Given the description of an element on the screen output the (x, y) to click on. 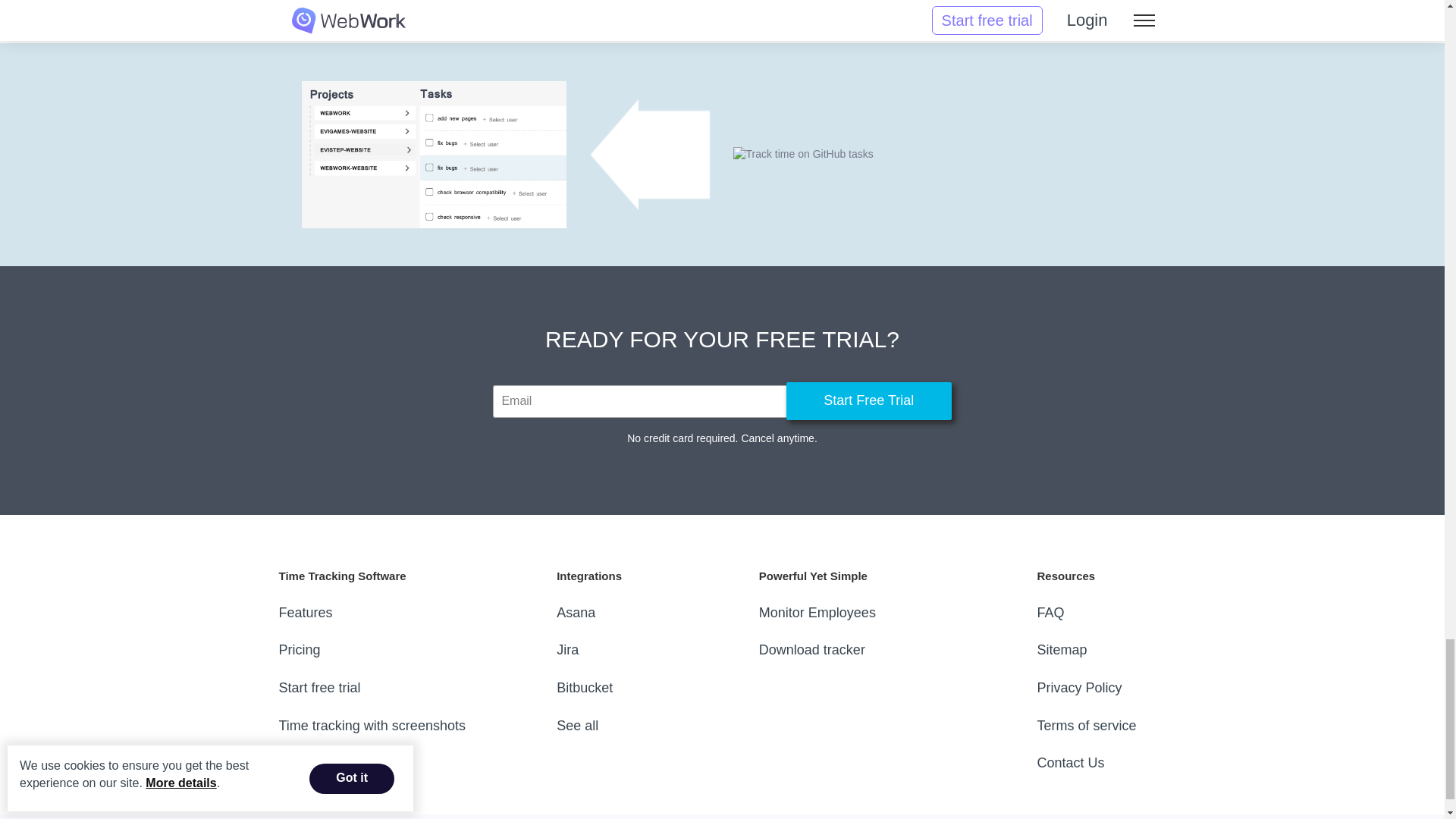
See all (577, 725)
Privacy Policy (1078, 687)
Sitemap (1061, 649)
Asana (575, 612)
Bitbucket (584, 687)
Terms of service (1085, 725)
Features (306, 612)
Pricing (299, 649)
Start free trial (320, 687)
Jira (567, 649)
